Given the description of an element on the screen output the (x, y) to click on. 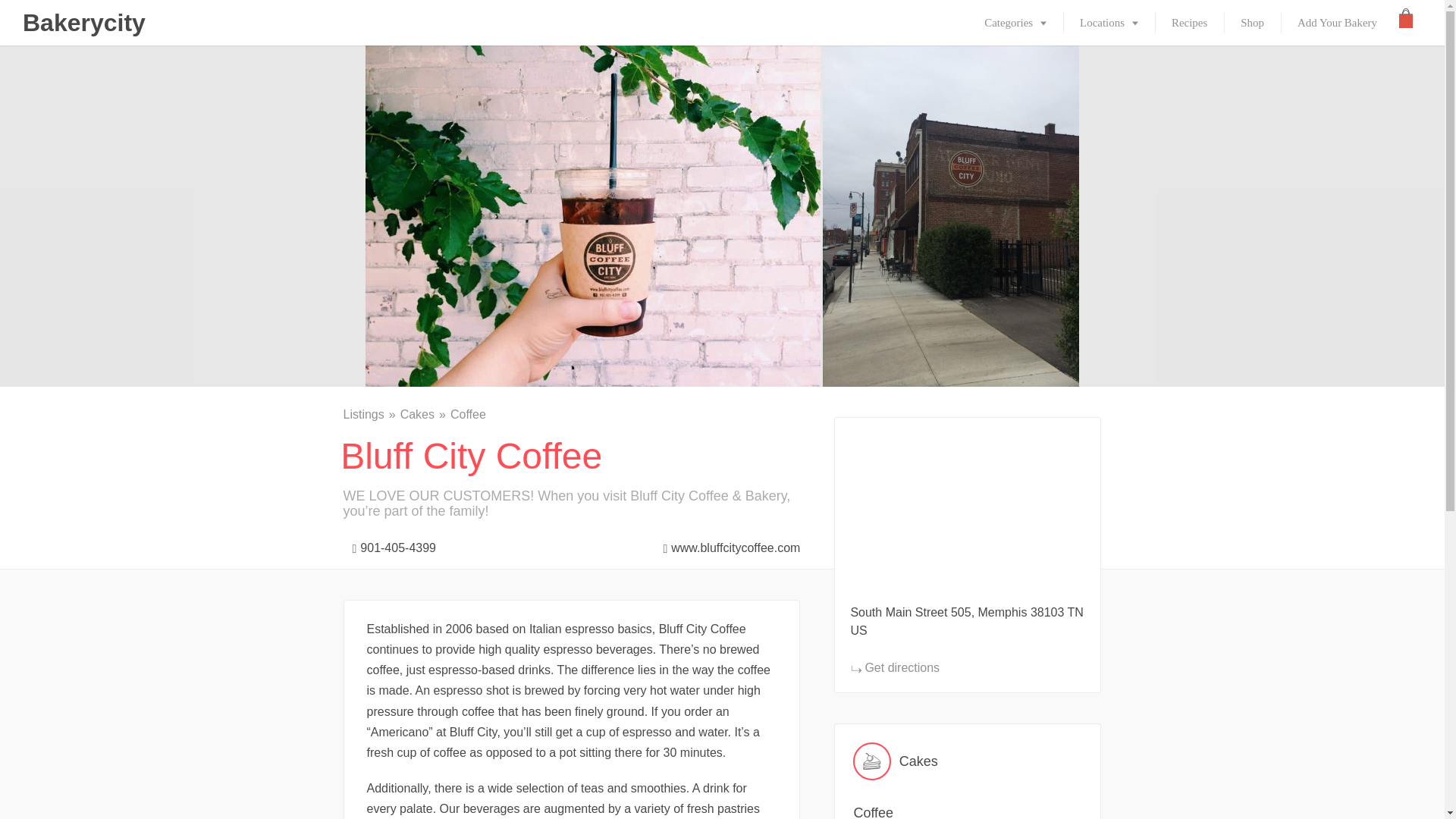
Categories (1015, 22)
Bakerycity (84, 22)
Locations (1108, 22)
